Given the description of an element on the screen output the (x, y) to click on. 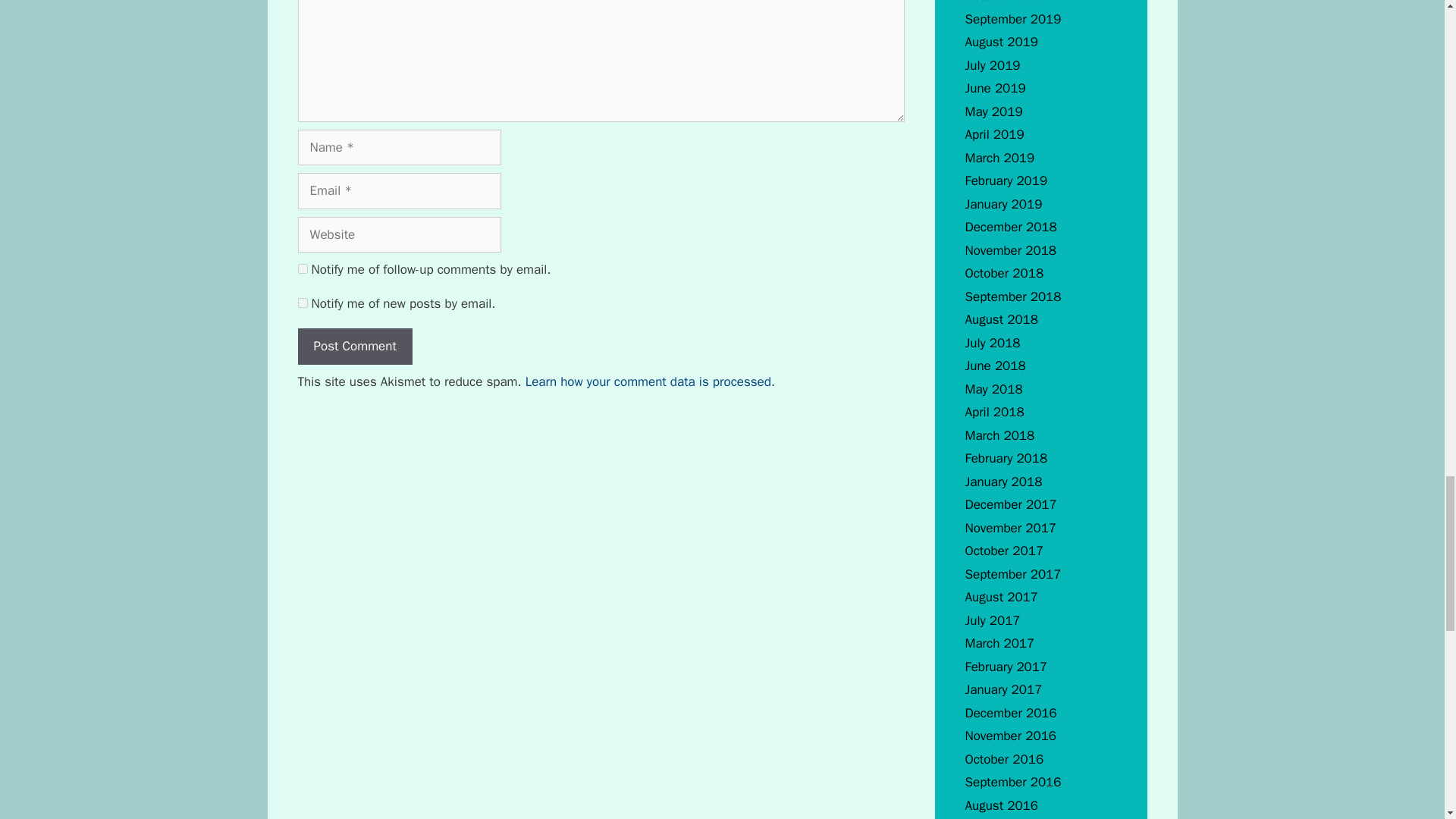
subscribe (302, 268)
Post Comment (354, 346)
subscribe (302, 302)
Learn how your comment data is processed (648, 381)
Post Comment (354, 346)
